Given the description of an element on the screen output the (x, y) to click on. 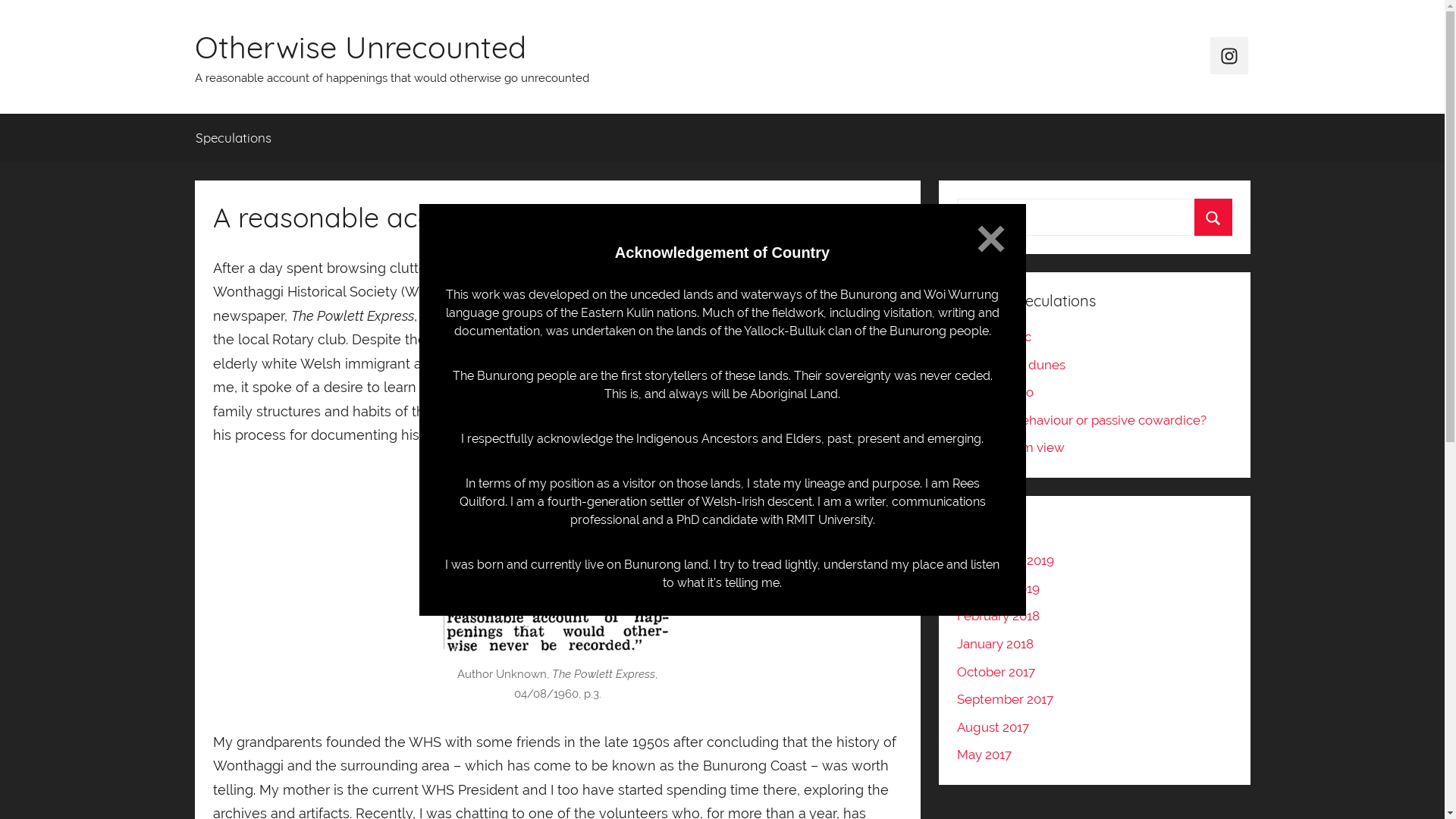
May 2017 Element type: text (984, 754)
February 2018 Element type: text (998, 615)
Splendid behaviour or passive cowardice? Element type: text (1081, 419)
February 2019 Element type: text (998, 588)
October 2017 Element type: text (996, 671)
Hidden from view Element type: text (1010, 447)
On the susso Element type: text (995, 391)
Litter in the dunes Element type: text (1011, 364)
September 2019 Element type: text (1005, 559)
Old Jim Mac Element type: text (994, 336)
Instagram Element type: text (1229, 56)
September 2017 Element type: text (1005, 698)
Otherwise Unrecounted Element type: text (359, 46)
August 2017 Element type: text (993, 726)
Search for: Element type: hover (1094, 216)
January 2018 Element type: text (995, 643)
Speculations Element type: text (232, 137)
